Given the description of an element on the screen output the (x, y) to click on. 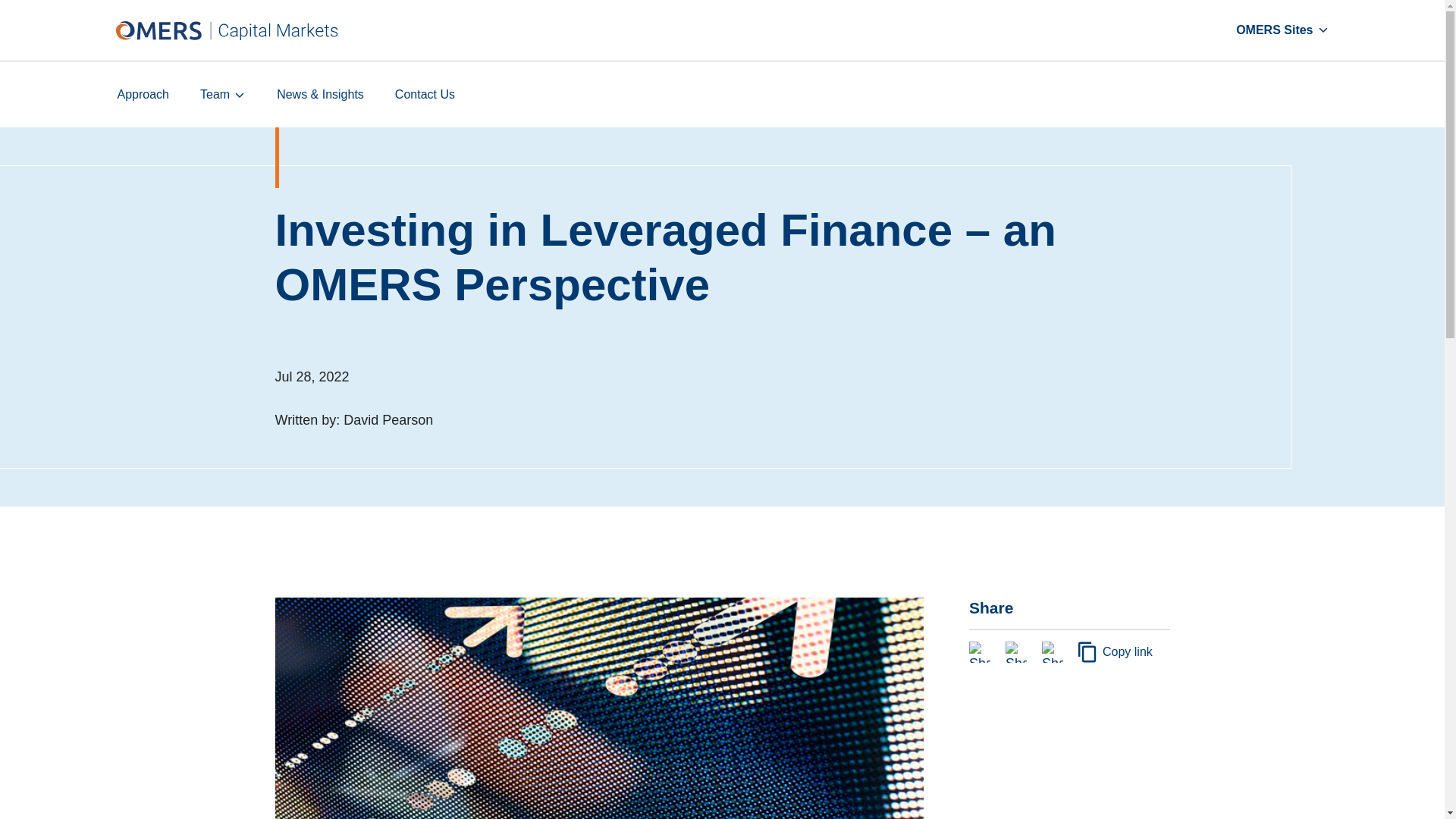
Approach (142, 94)
Copy link (1115, 651)
Contact Us (425, 94)
